Given the description of an element on the screen output the (x, y) to click on. 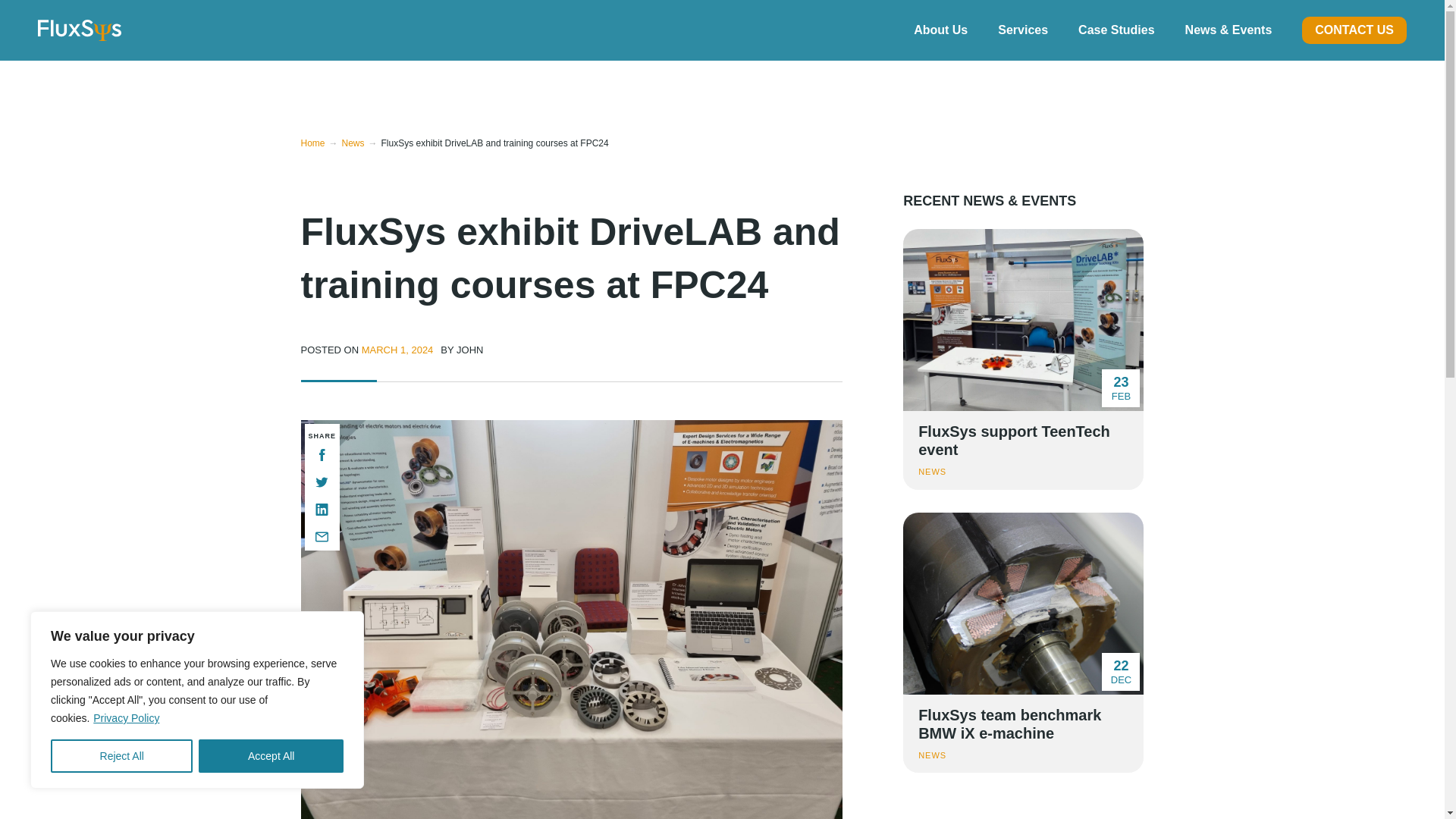
FluxSys support TeenTech event (1022, 358)
Case Studies (1115, 30)
CONTACT US (1353, 30)
News (361, 143)
Services (1022, 30)
Privacy Policy (126, 717)
Reject All (121, 756)
Home (319, 143)
About Us (940, 30)
FluxSys team benchmark BMW iX e-machine (1022, 642)
Accept All (270, 756)
